Given the description of an element on the screen output the (x, y) to click on. 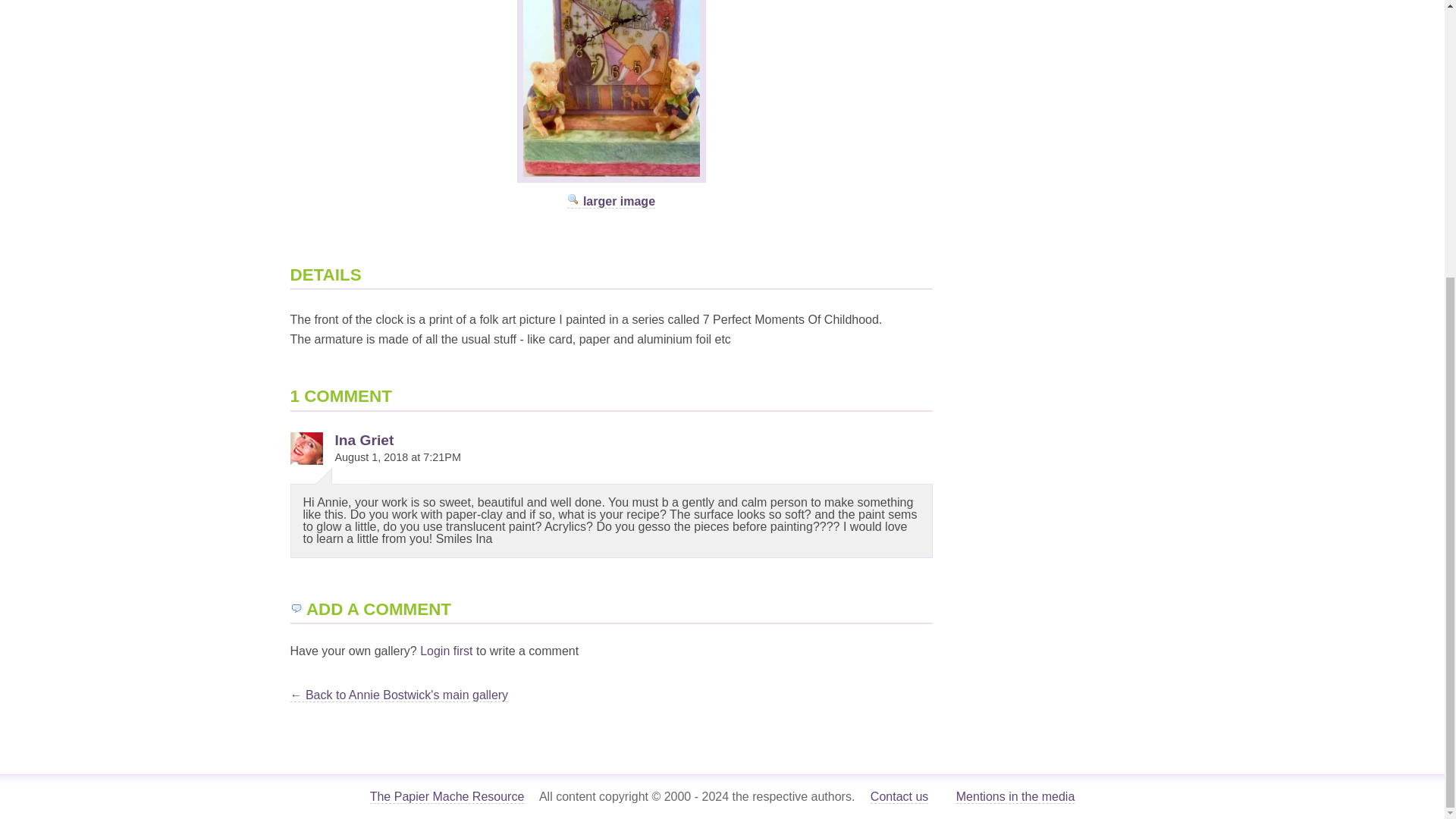
Contact us (899, 796)
Ina Griet (364, 439)
larger image (611, 201)
Login first (445, 650)
The Papier Mache Resource (446, 796)
Mentions in the media (1015, 796)
"As She Gazed At The Moon Venus Smiled" by Annie Bostwick (611, 178)
"As She Gazed At The Moon Venus Smiled" by Annie Bostwick (611, 201)
